Given the description of an element on the screen output the (x, y) to click on. 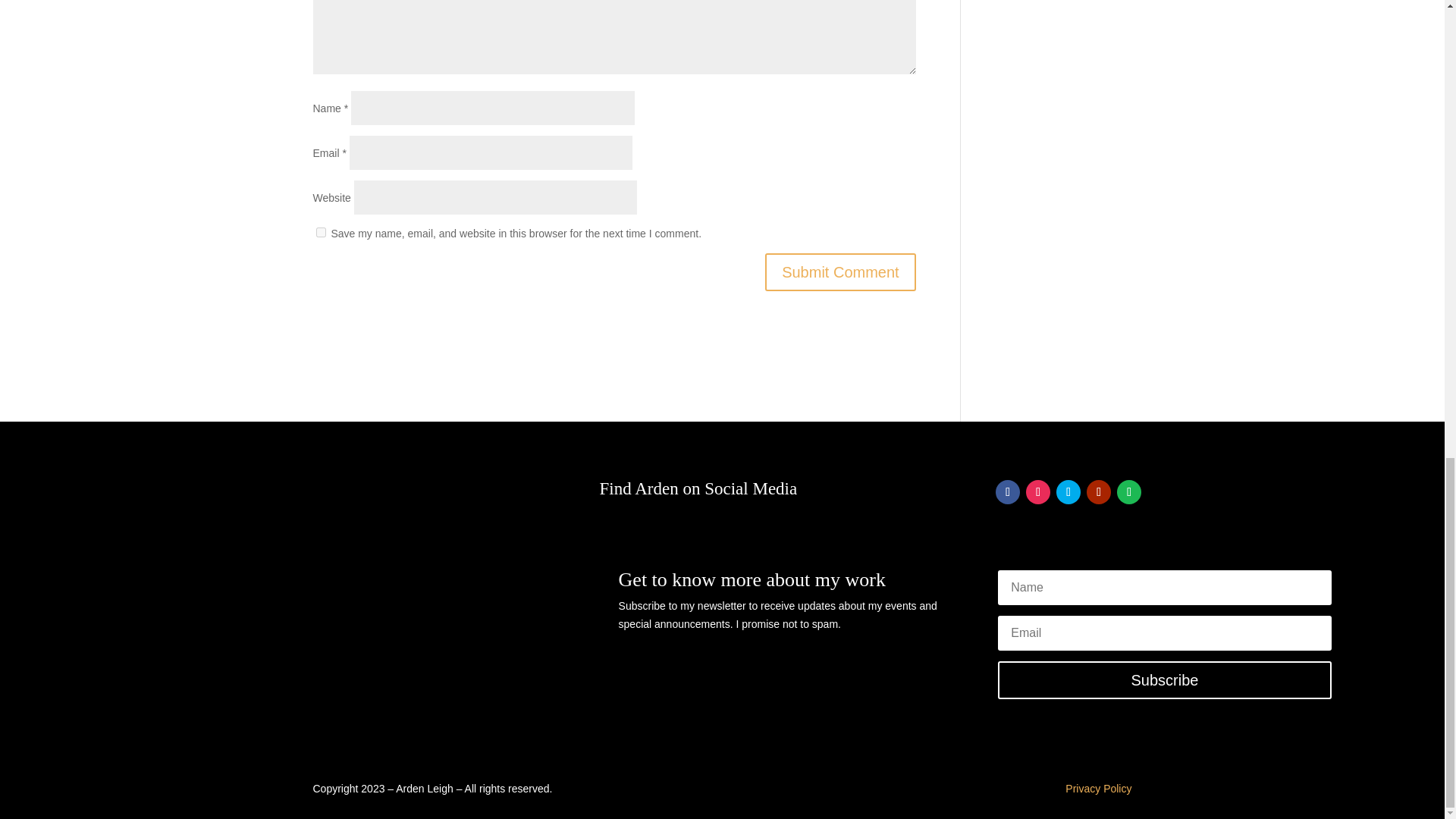
Follow on Spotify (1128, 491)
Subscribe (1164, 679)
Submit Comment (840, 272)
Privacy Policy (1098, 788)
Follow on Instagram (1037, 491)
Submit Comment (840, 272)
Follow on Facebook (1007, 491)
Follow on Twitter (1068, 491)
Follow on Youtube (1098, 491)
Privacy Policy (1098, 788)
